Given the description of an element on the screen output the (x, y) to click on. 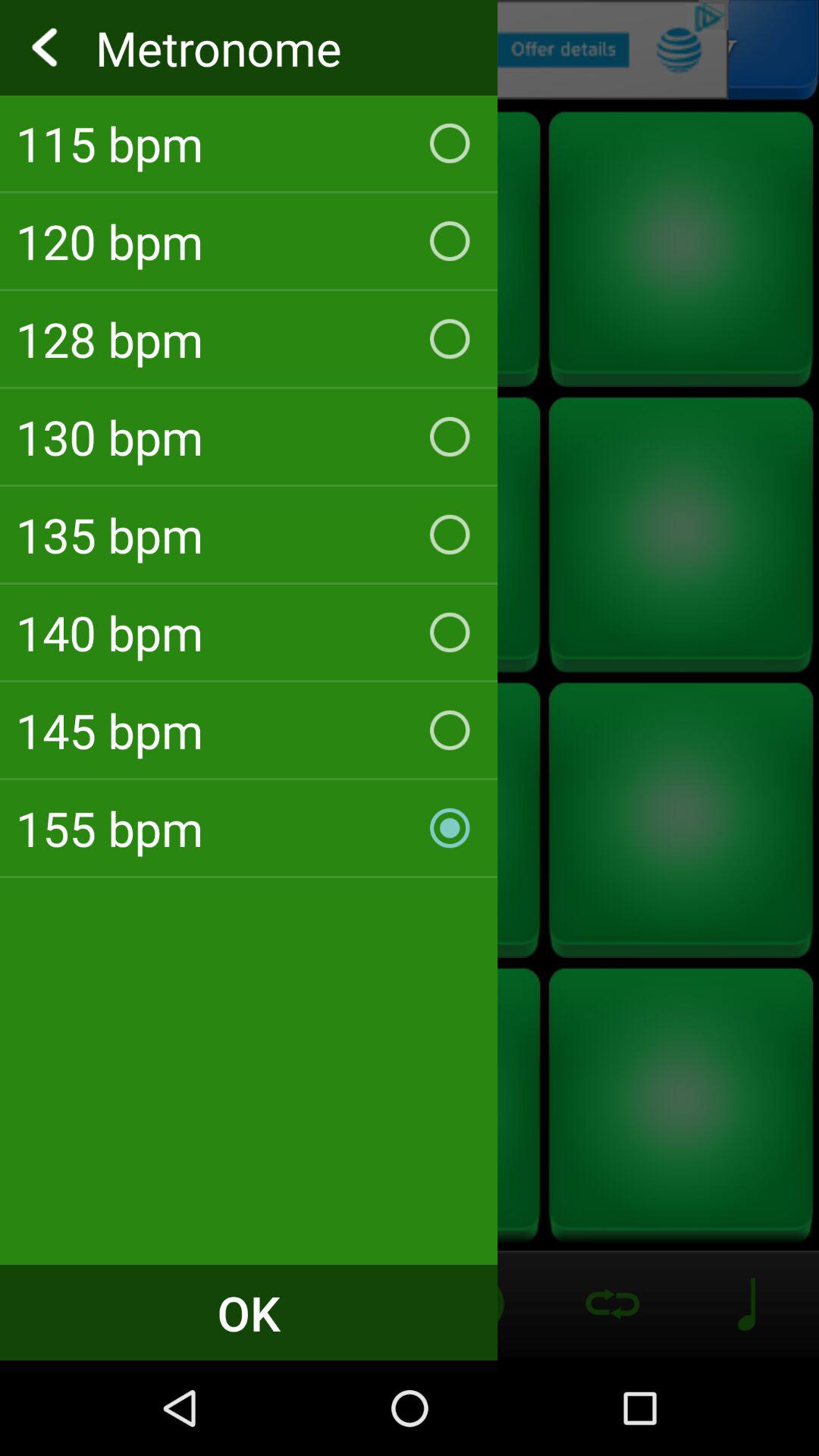
launch 155 bpm checkbox (248, 827)
